Given the description of an element on the screen output the (x, y) to click on. 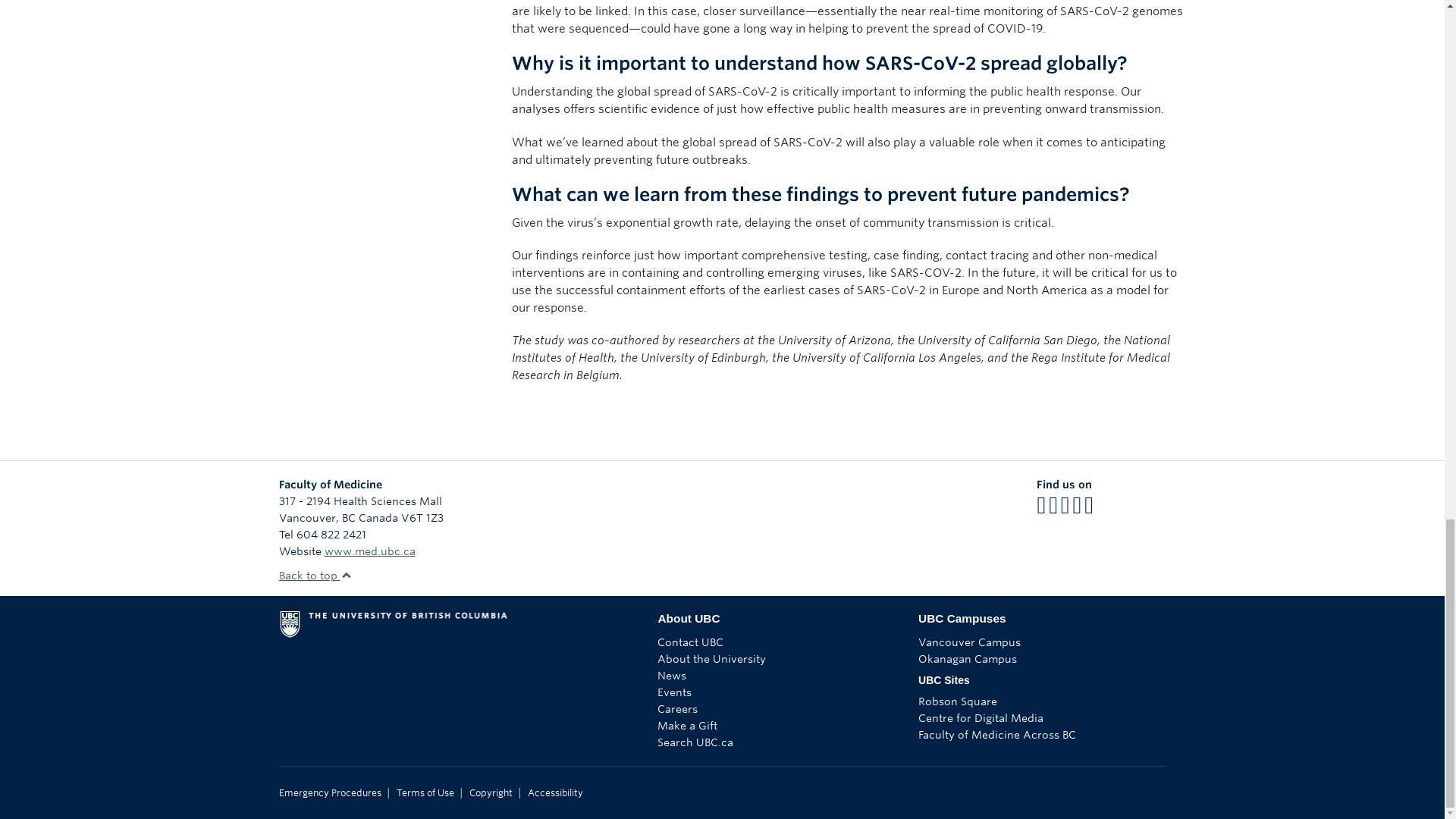
Back to top (315, 575)
Accessibility (555, 792)
UBC Copyright (490, 792)
Terms of Use (424, 792)
Emergency Procedures (330, 792)
